Given the description of an element on the screen output the (x, y) to click on. 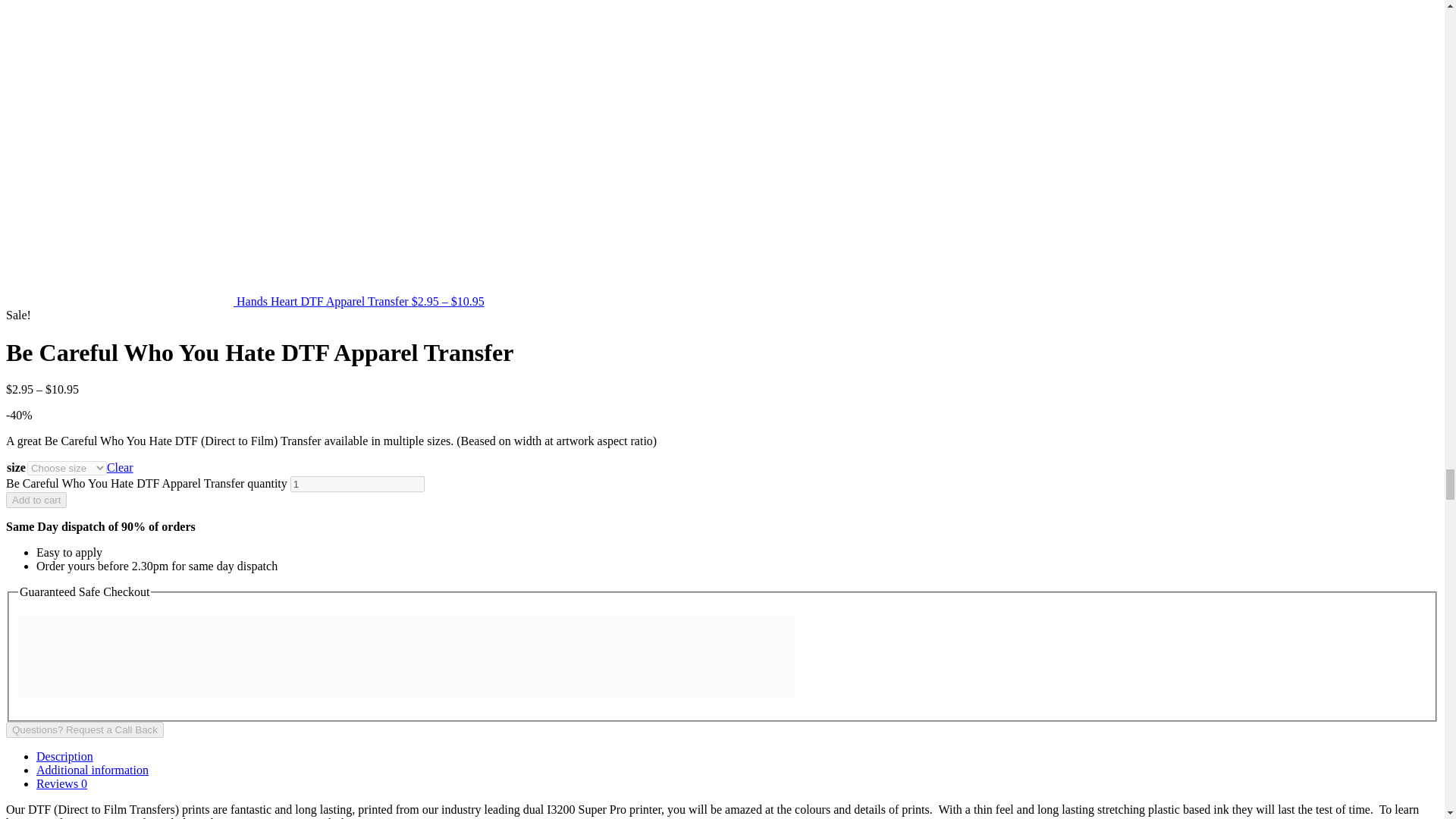
pressing instructions (274, 817)
Questions? Request a Call Back (84, 729)
Description (64, 756)
1 (357, 483)
Additional information (92, 769)
Reviews 0 (61, 783)
Add to cart (35, 499)
Clear (119, 467)
